Given the description of an element on the screen output the (x, y) to click on. 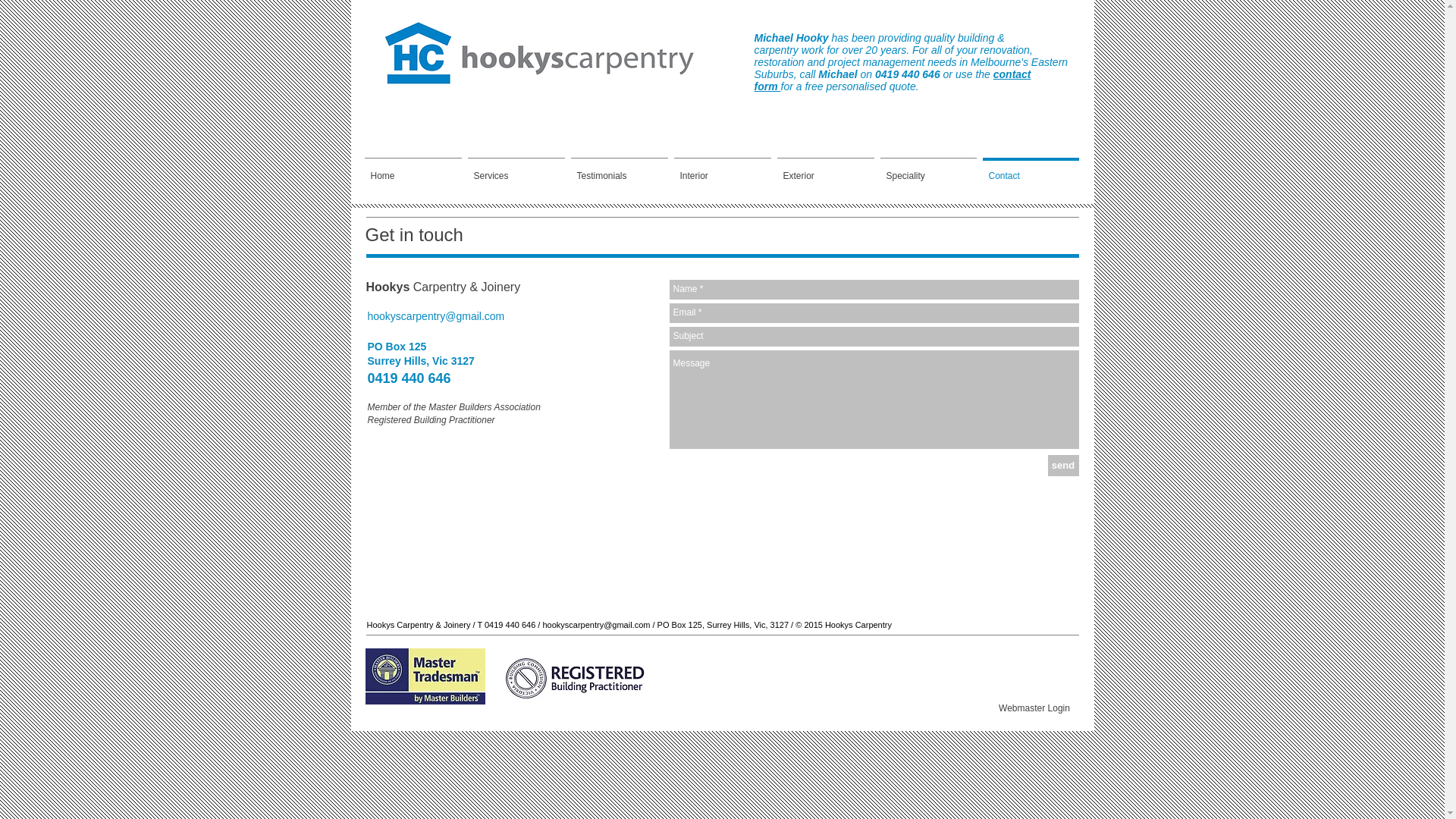
Speciality Element type: text (927, 168)
send Element type: text (1063, 465)
contact form  Element type: text (891, 80)
Webmaster Login Element type: text (1034, 707)
hookyscarpentry@gmail.com Element type: text (435, 316)
Interior Element type: text (721, 168)
Contact Element type: text (1030, 168)
Exterior Element type: text (824, 168)
hookyscarpentry@gmail.com Element type: text (595, 624)
Home Element type: text (412, 168)
Services Element type: text (515, 168)
Testimonials Element type: text (618, 168)
Building Commision Logo.jpg Element type: hover (576, 677)
